Given the description of an element on the screen output the (x, y) to click on. 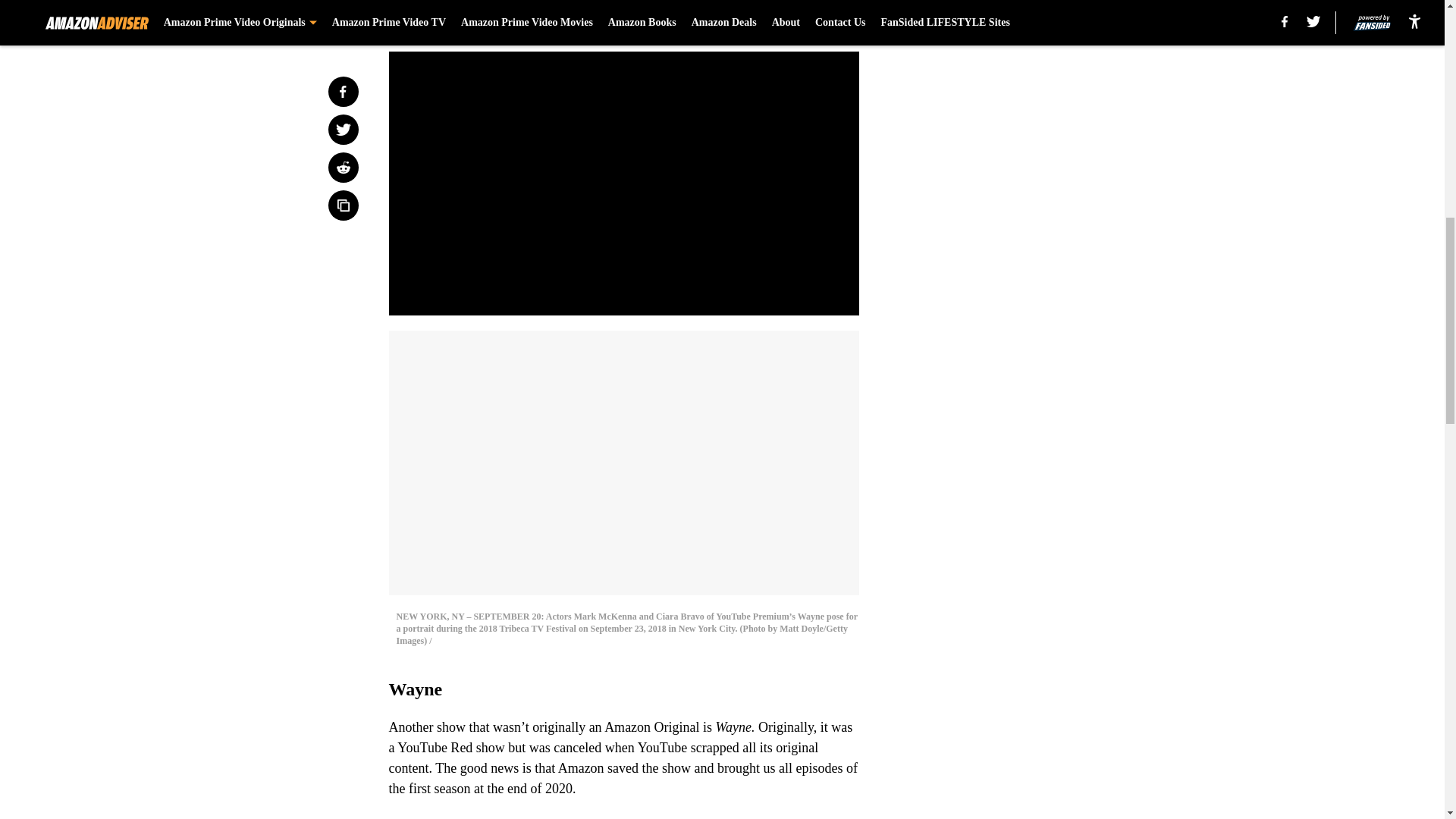
Prev (433, 20)
Next (813, 20)
